Given the description of an element on the screen output the (x, y) to click on. 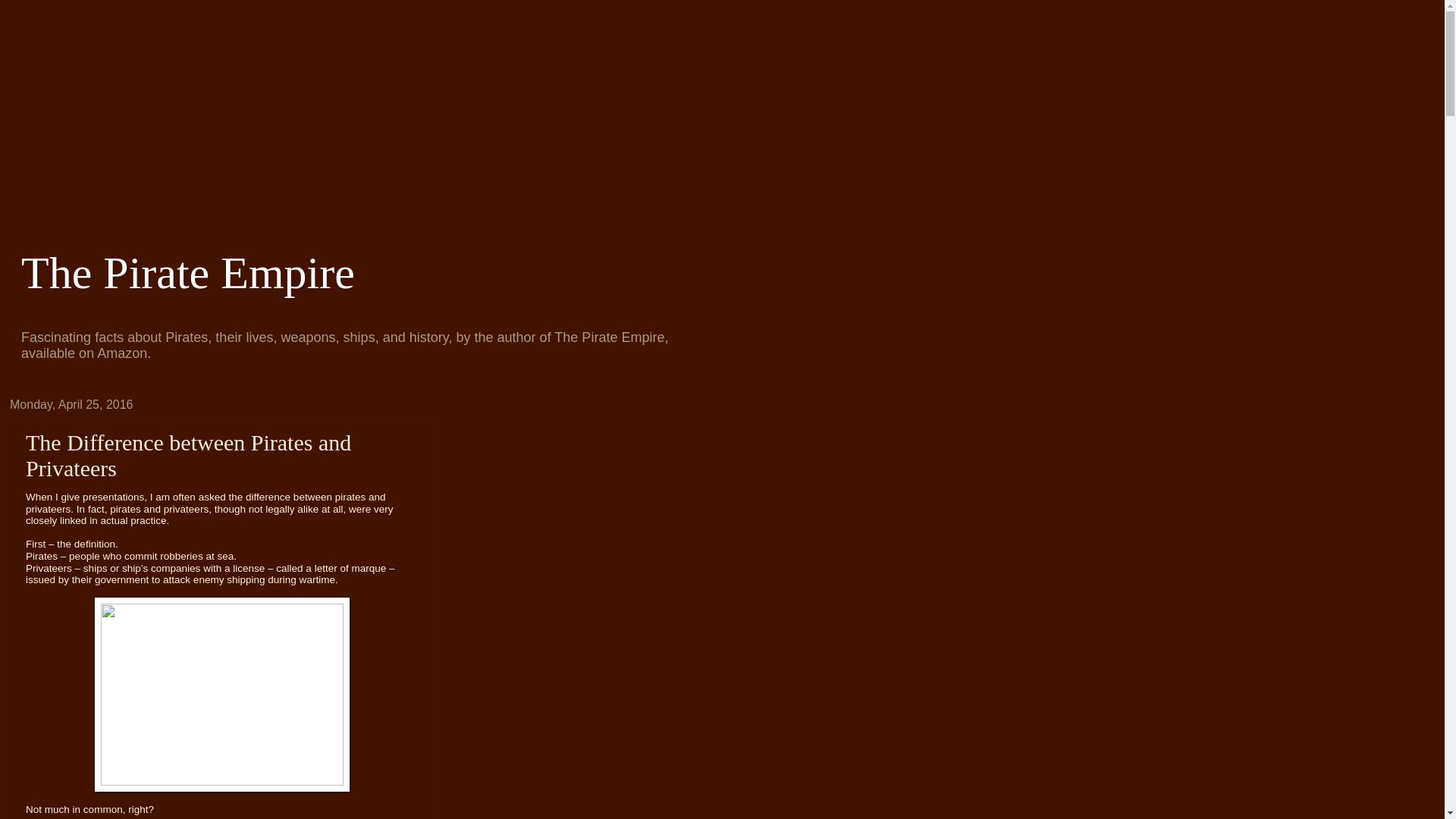
The Pirate Empire (188, 273)
